Given the description of an element on the screen output the (x, y) to click on. 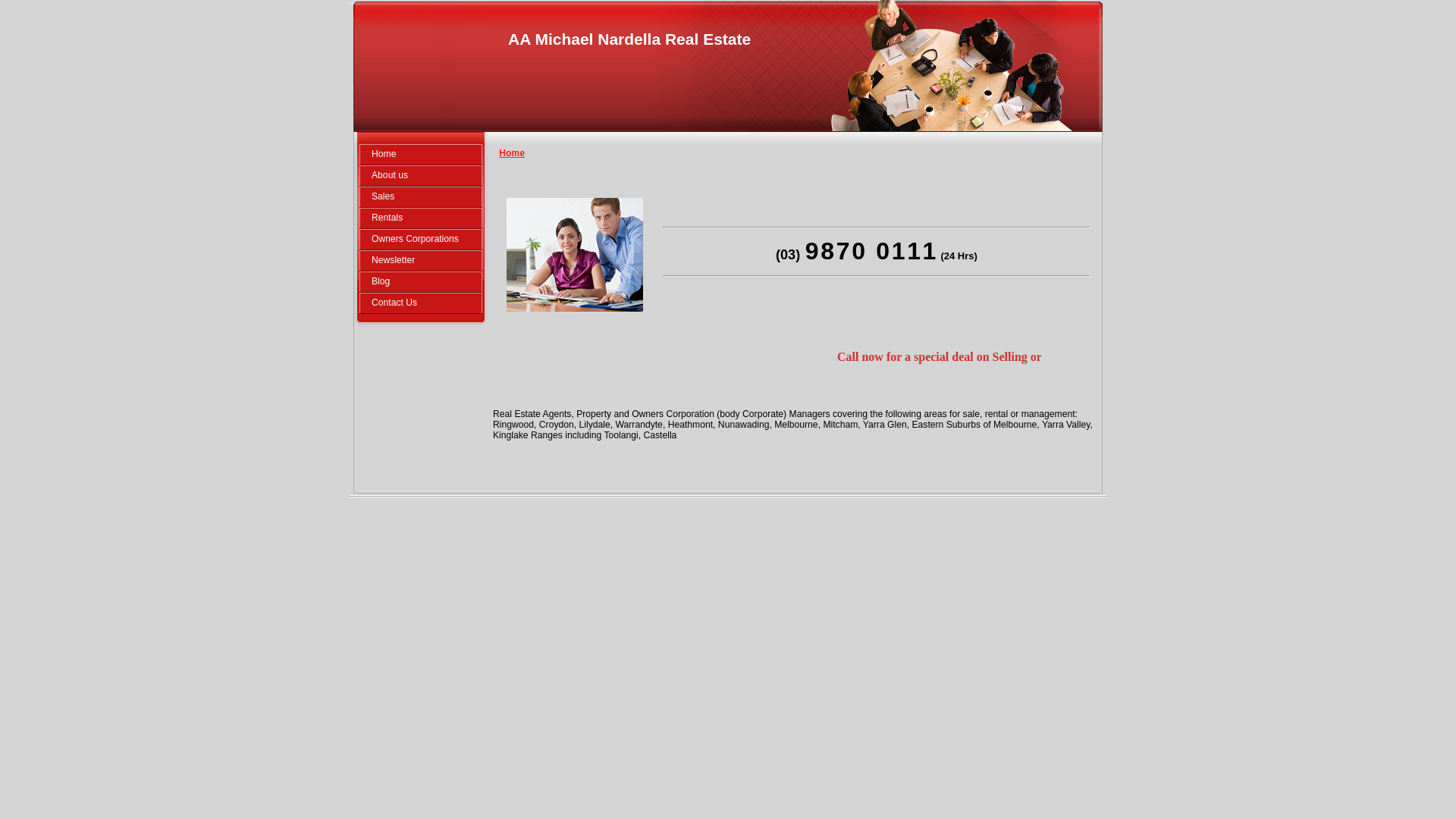
Newsletter Element type: text (420, 260)
Contact Us Element type: text (420, 302)
Blog Element type: text (420, 281)
About us Element type: text (420, 175)
Rentals Element type: text (420, 217)
Sales Element type: text (420, 196)
Home Element type: text (420, 154)
Owners Corporations Element type: text (420, 239)
Home Element type: text (511, 152)
